Given the description of an element on the screen output the (x, y) to click on. 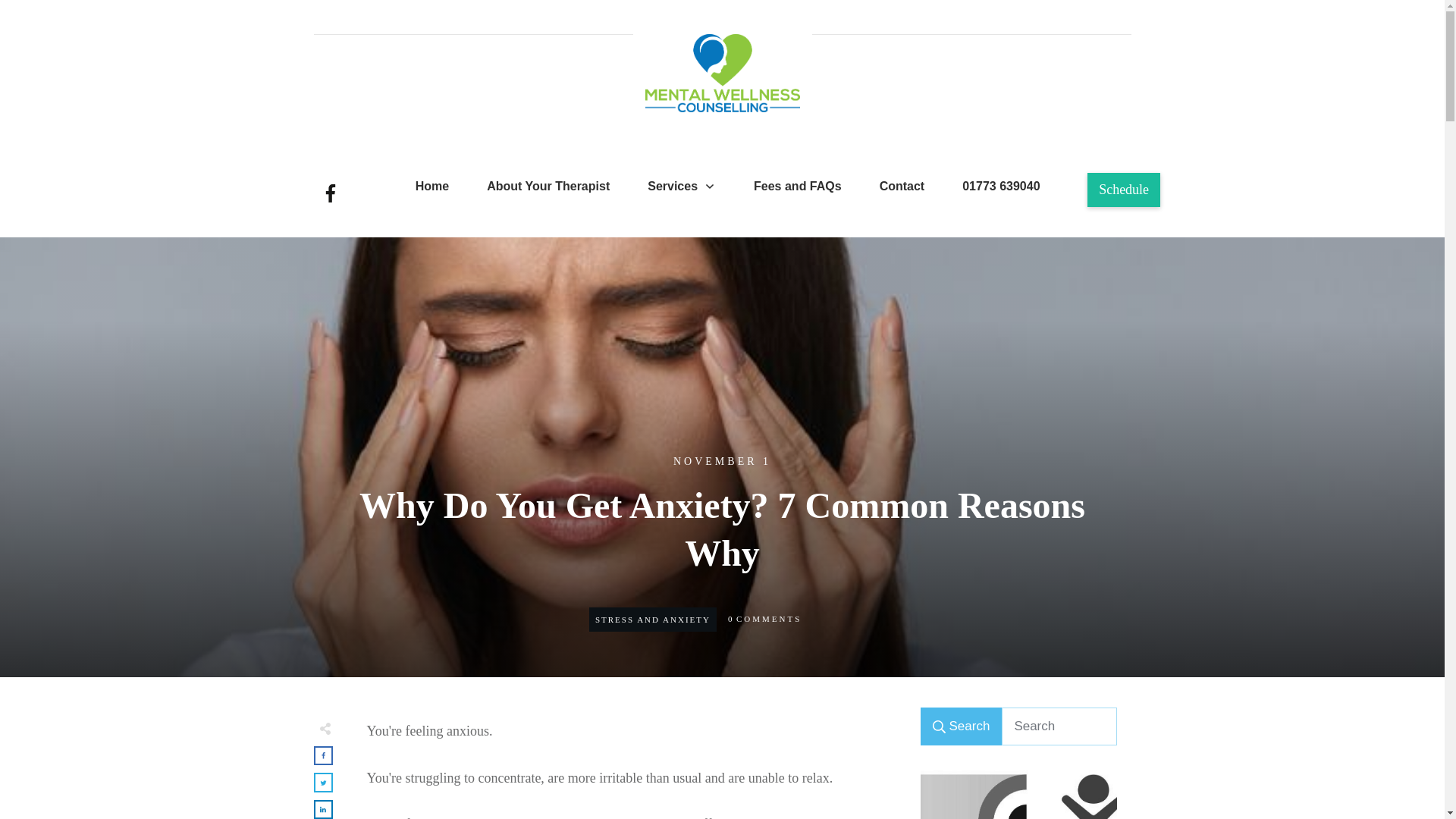
Services (681, 186)
Schedule (1123, 190)
Fees and FAQs (797, 186)
About Your Therapist (548, 186)
Contact (901, 186)
Search (961, 726)
Home (431, 186)
01773 639040 (1000, 186)
